Given the description of an element on the screen output the (x, y) to click on. 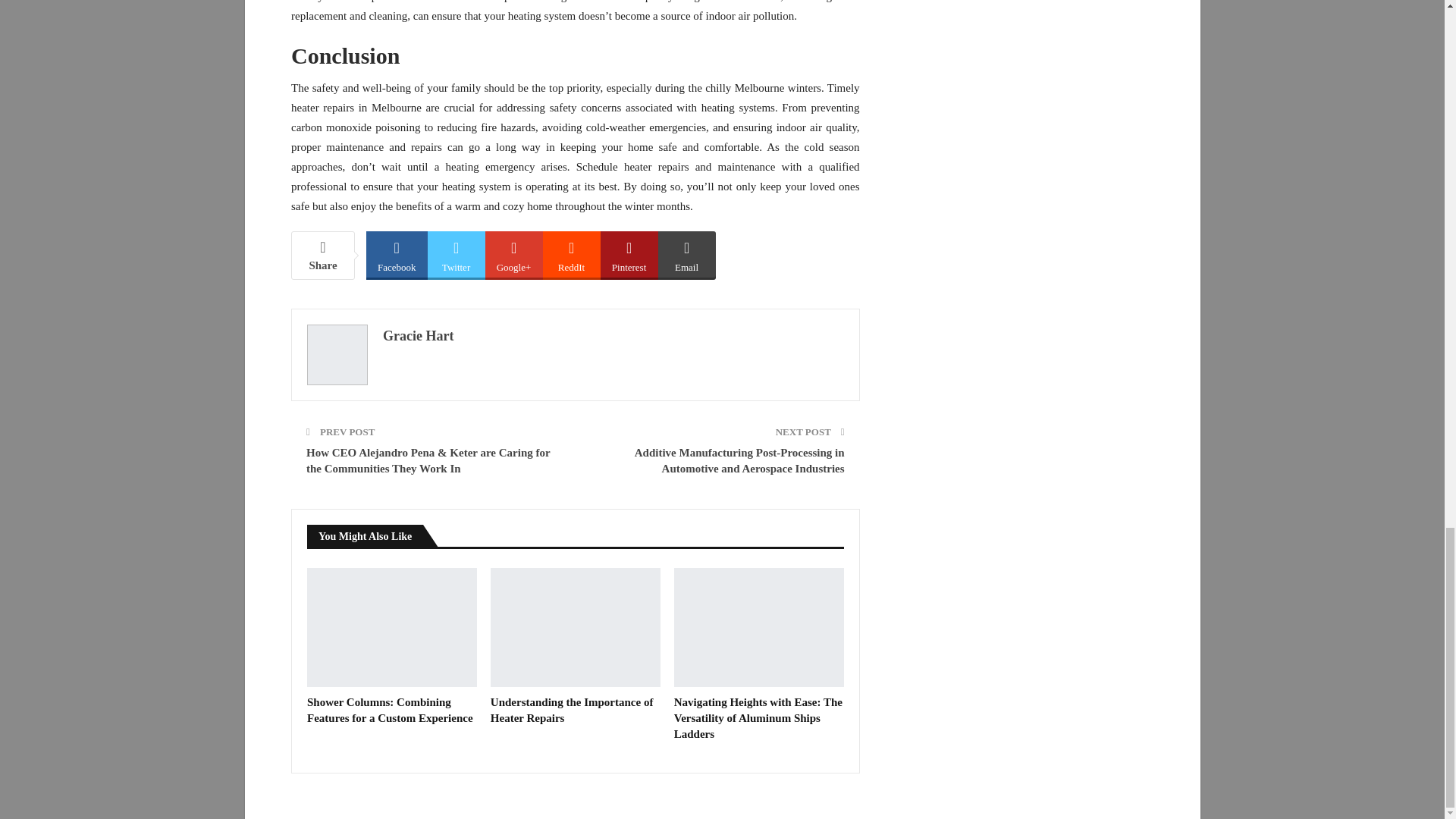
Twitter (456, 253)
Understanding the Importance of Heater Repairs (571, 709)
ReddIt (571, 253)
Email (687, 253)
Gracie Hart (417, 335)
Understanding the Importance of Heater Repairs (575, 627)
Shower Columns: Combining Features for a Custom Experience (390, 709)
